Given the description of an element on the screen output the (x, y) to click on. 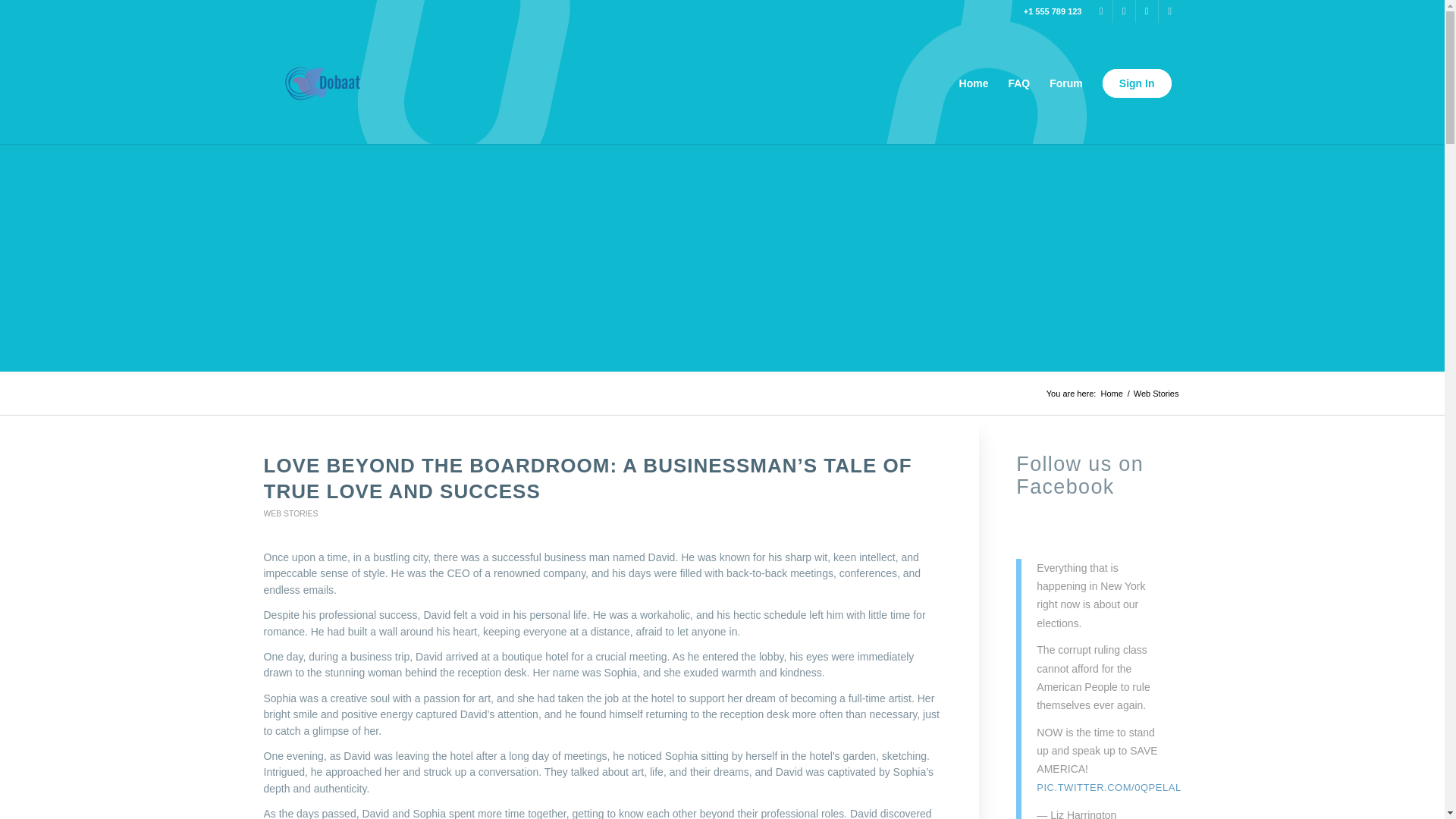
WEB STORIES (290, 513)
Mail (1169, 11)
Twitter (1101, 11)
Home (1110, 393)
Dobaat (1110, 393)
Facebook (1146, 11)
Dribbble (1124, 11)
